Given the description of an element on the screen output the (x, y) to click on. 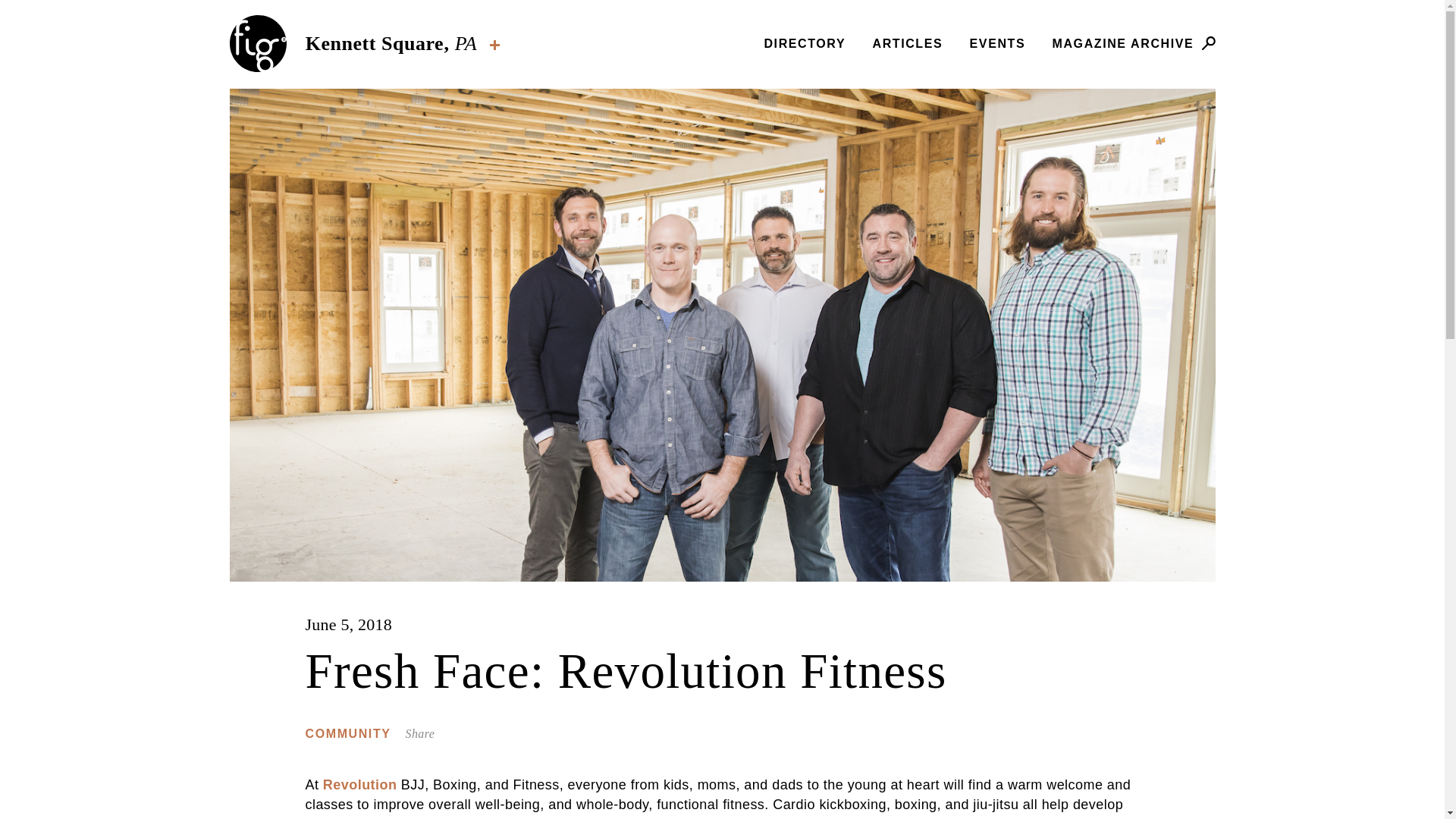
ARTICLES (907, 42)
MAGAZINE ARCHIVE (1122, 42)
DIRECTORY (803, 42)
COMMUNITY (349, 733)
EVENTS (997, 42)
